Given the description of an element on the screen output the (x, y) to click on. 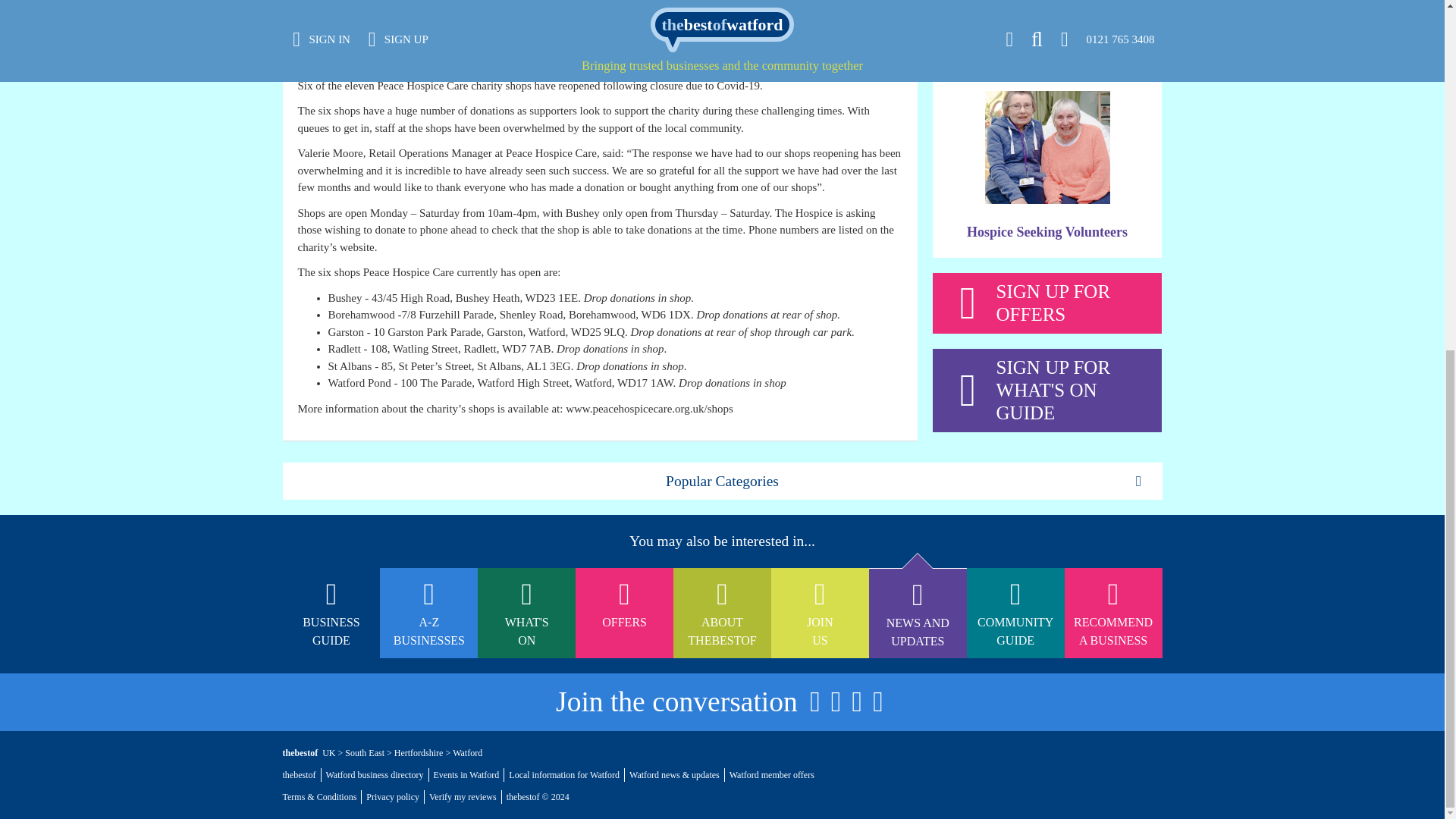
Hospice Seeking Volunteers (1046, 231)
Hospice Launches New Range of Peace Poppies (1047, 18)
